Given the description of an element on the screen output the (x, y) to click on. 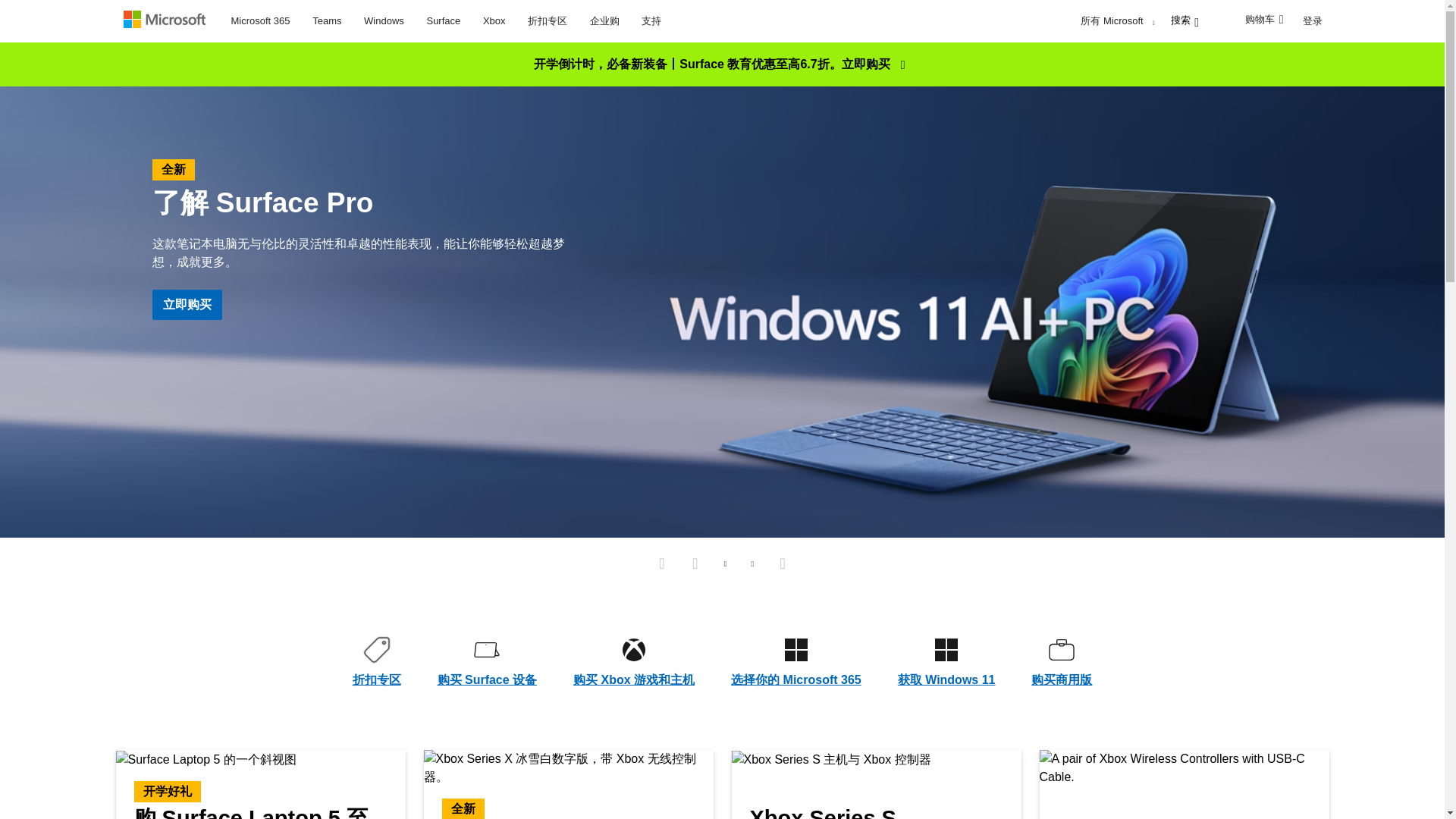
Microsoft (167, 20)
Microsoft 365 (260, 18)
Teams (326, 18)
Surface (443, 18)
Xbox (494, 18)
Windows (383, 18)
